Given the description of an element on the screen output the (x, y) to click on. 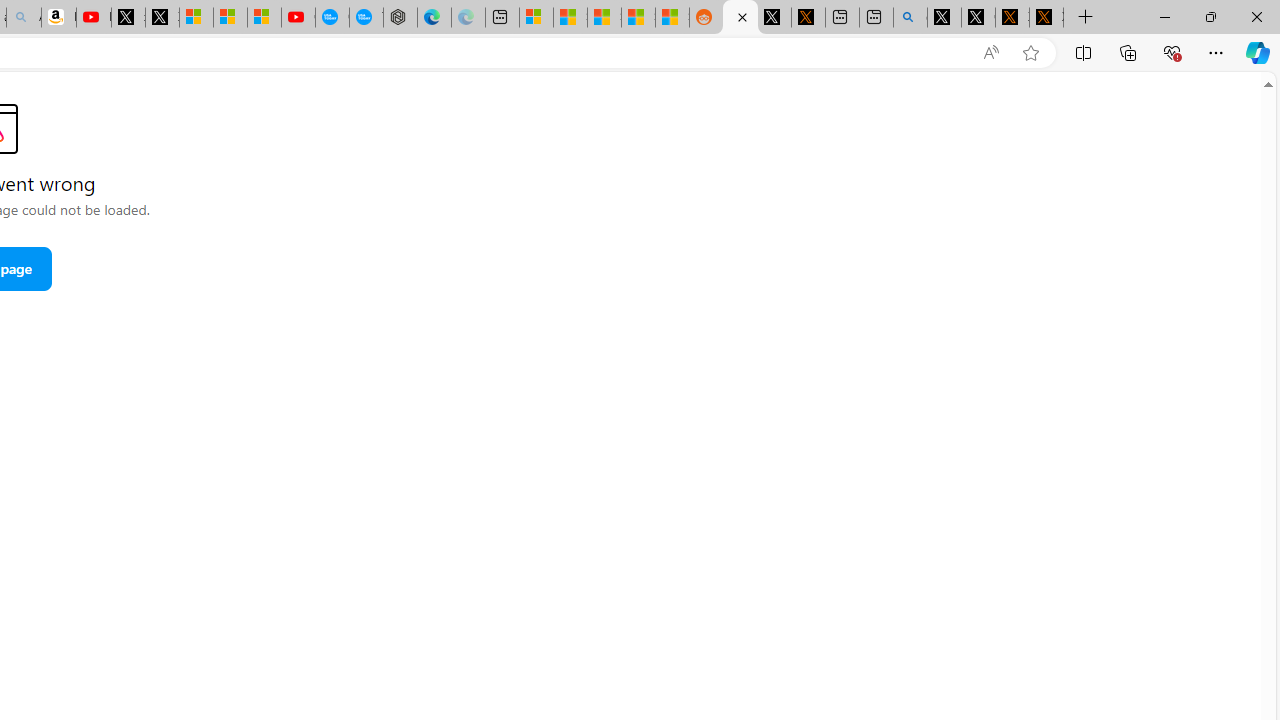
Shanghai, China hourly forecast | Microsoft Weather (603, 17)
github - Search (909, 17)
X Privacy Policy (1046, 17)
Opinion: Op-Ed and Commentary - USA TODAY (332, 17)
Profile / X (944, 17)
